Given the description of an element on the screen output the (x, y) to click on. 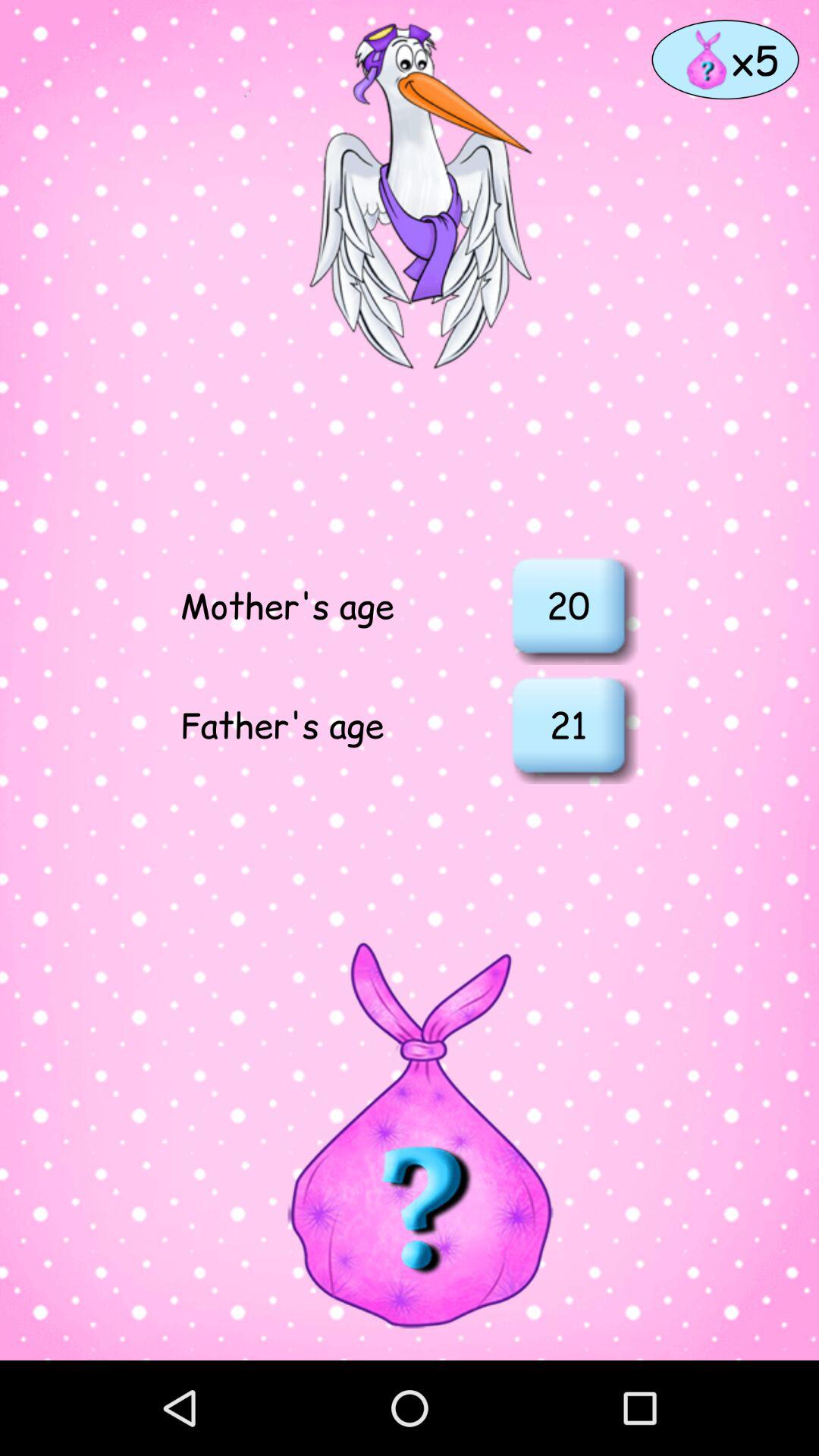
open item below the 20 icon (568, 724)
